Given the description of an element on the screen output the (x, y) to click on. 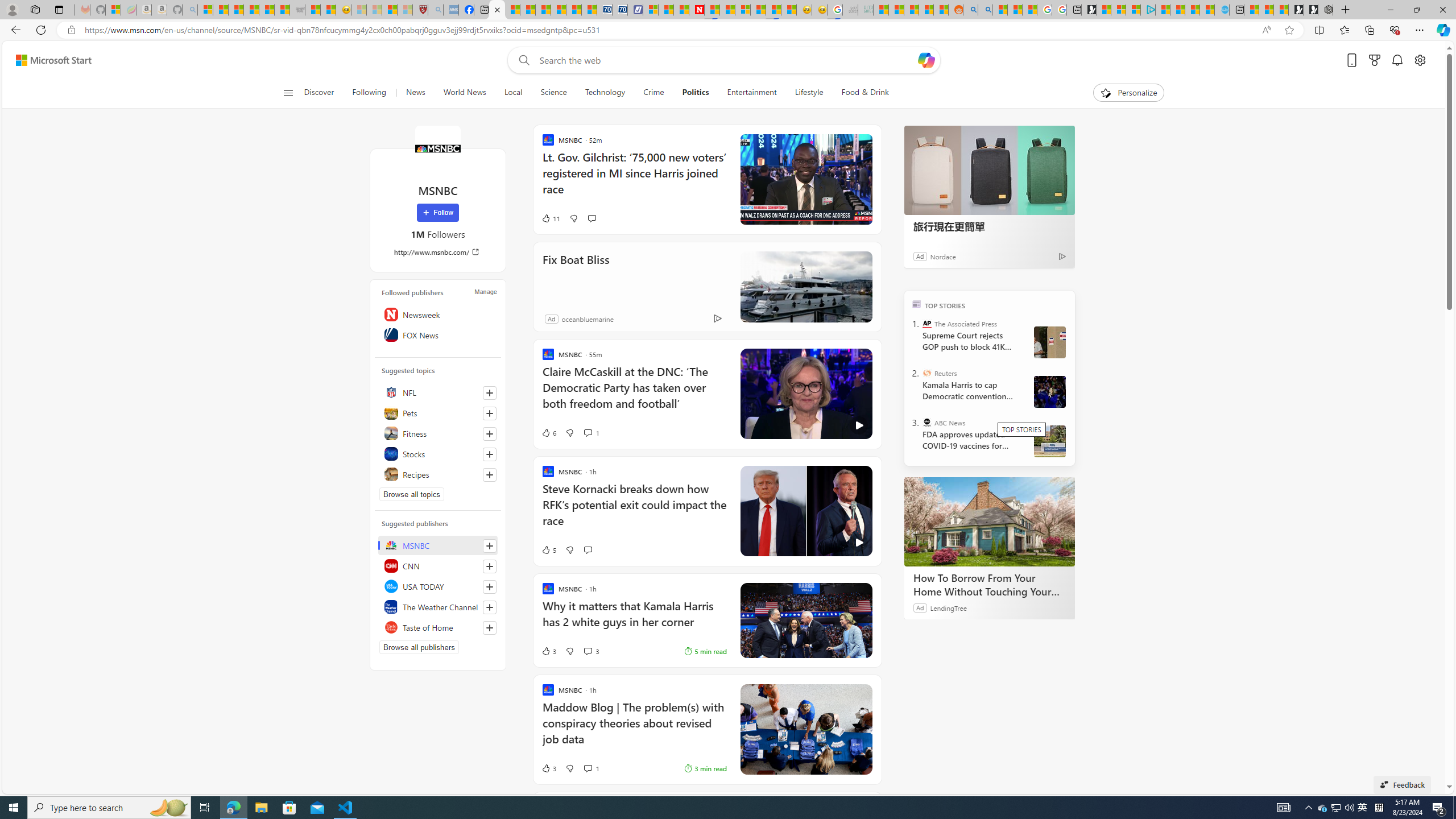
Student Loan Update: Forgiveness Program Ends This Month (926, 9)
3 Like (547, 768)
Stocks (437, 453)
MSNBC (437, 148)
